Given the description of an element on the screen output the (x, y) to click on. 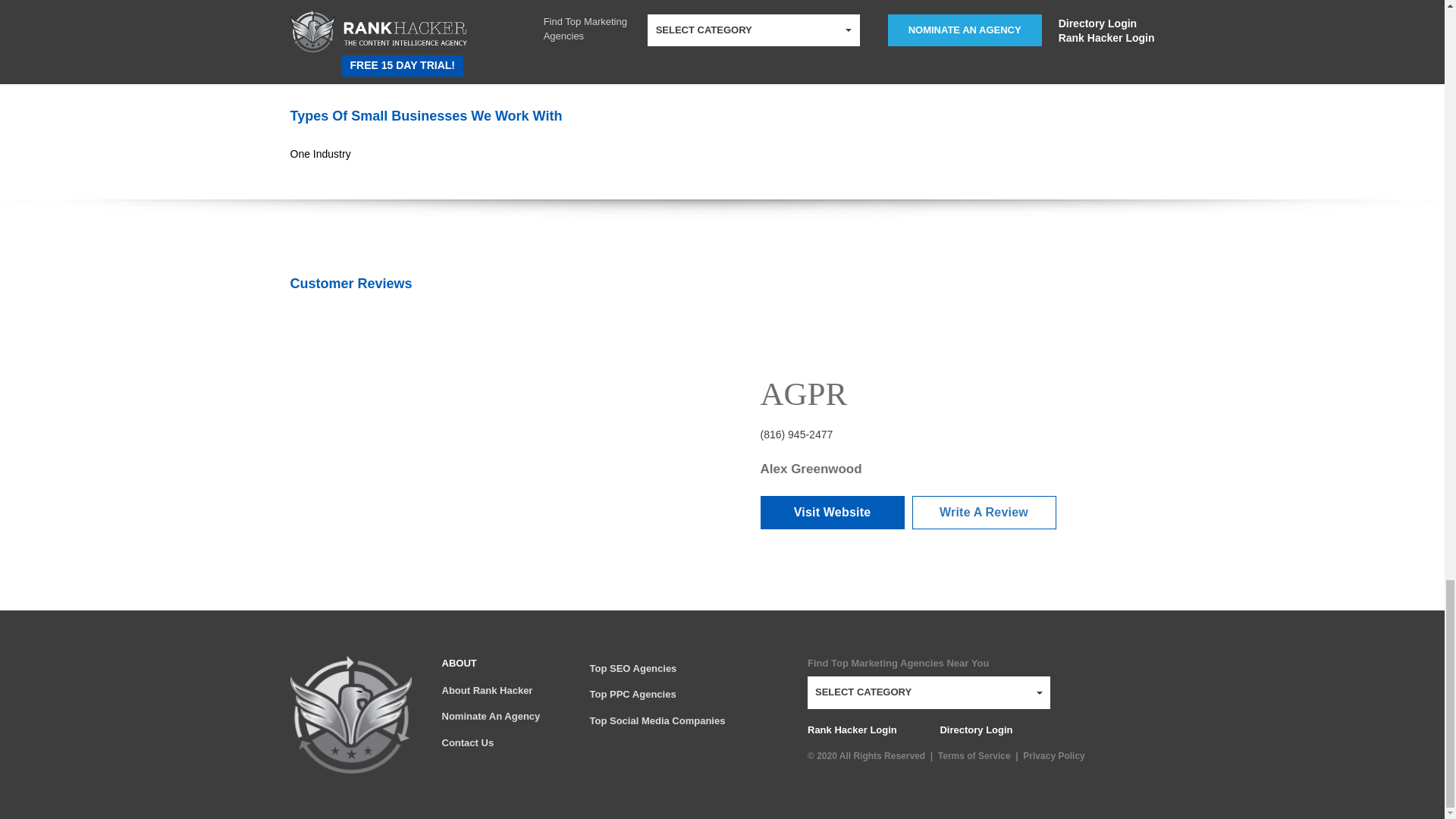
Top PPC Agencies (684, 694)
Contact Us (500, 743)
Write A Review (983, 512)
Top Social Media Companies (684, 721)
Visit Website (832, 512)
Rank Hacker Login (852, 729)
About Rank Hacker (500, 691)
Top SEO Agencies (684, 669)
SELECT CATEGORY (928, 692)
Nominate An Agency (500, 716)
